Given the description of an element on the screen output the (x, y) to click on. 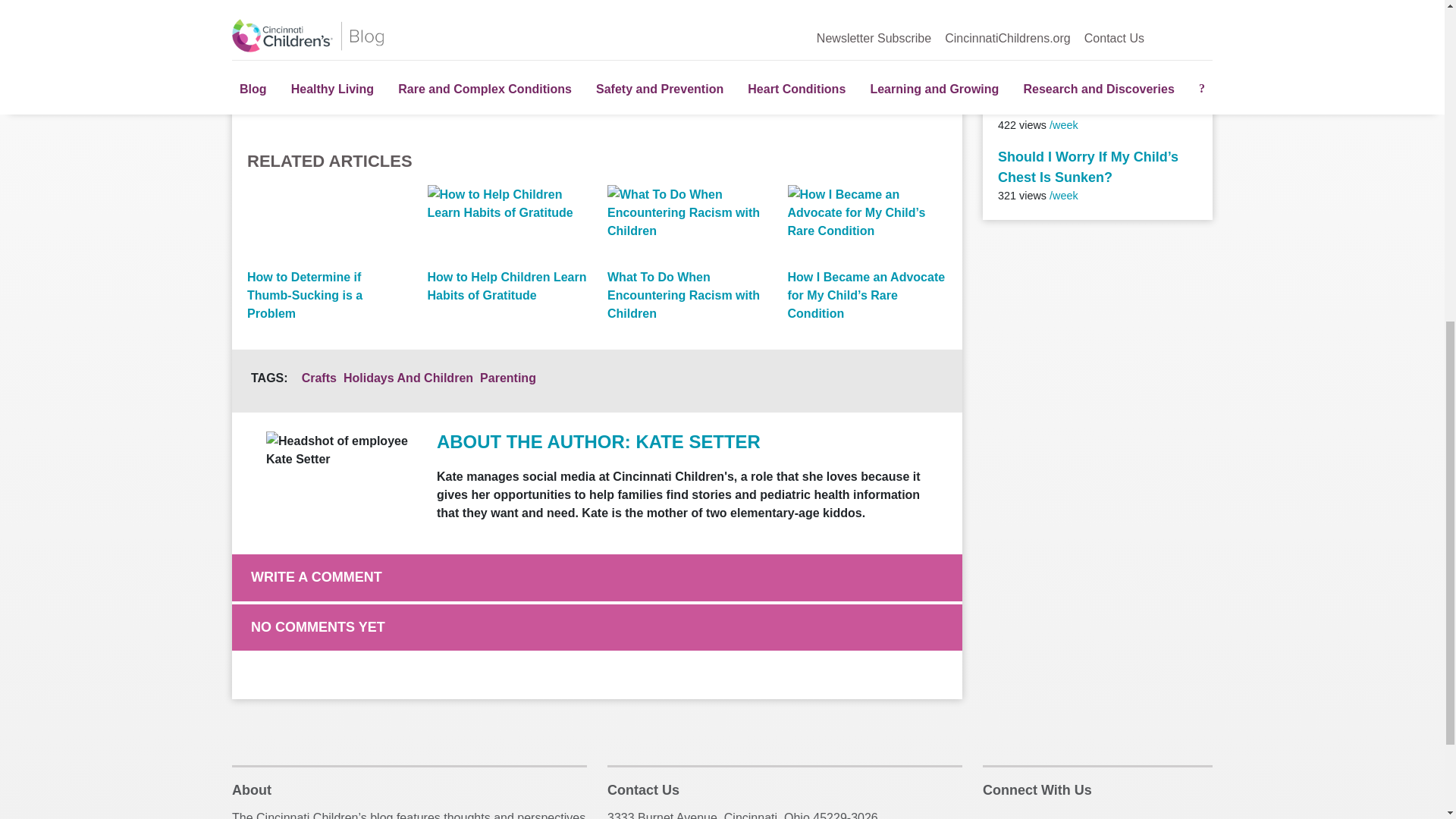
View Cincinnati Children's Pinterest page. (367, 19)
